Given the description of an element on the screen output the (x, y) to click on. 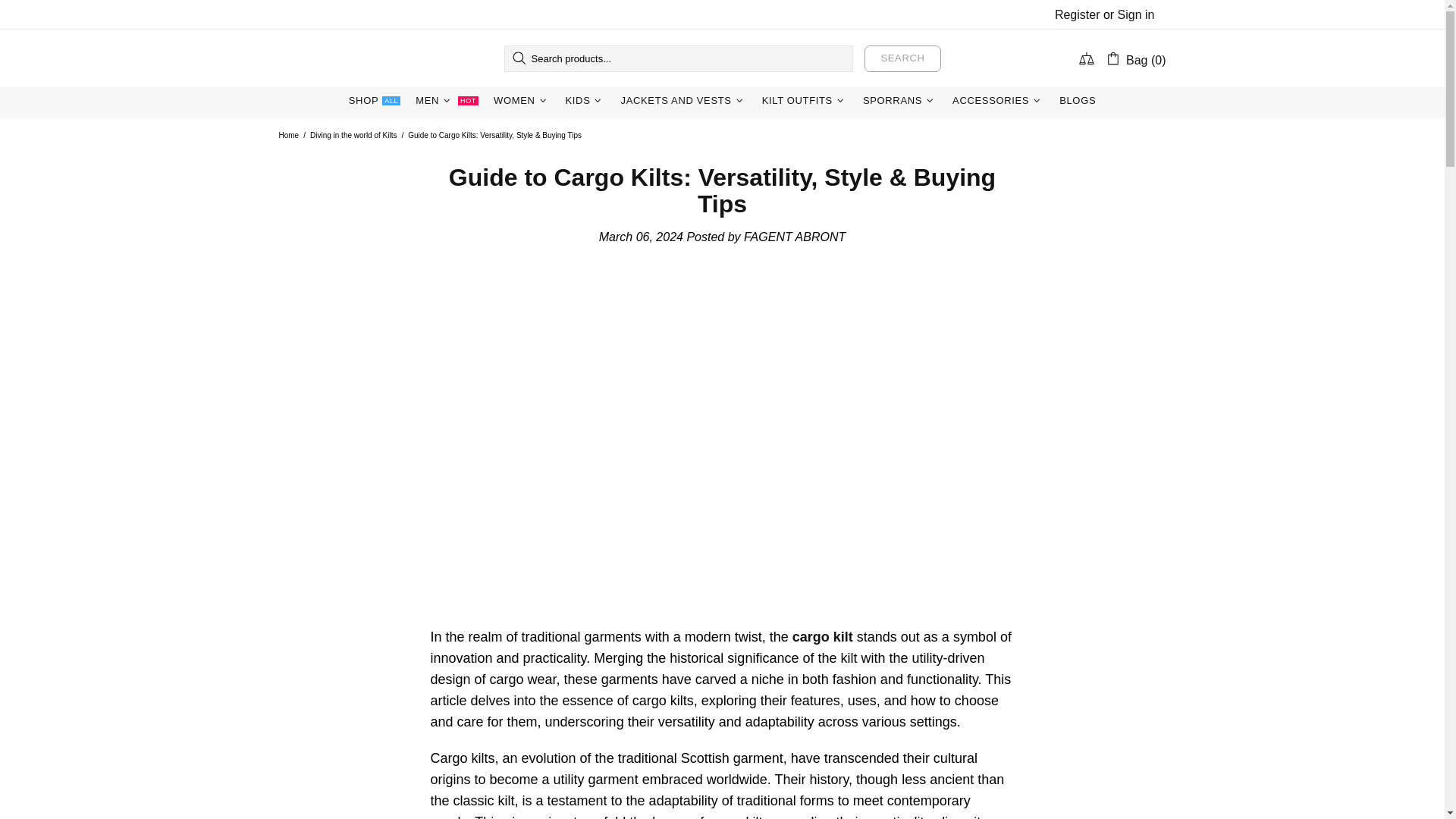
Kilt Box Shop (446, 100)
Sign in (364, 58)
Register (1136, 13)
SEARCH (1077, 13)
